Given the description of an element on the screen output the (x, y) to click on. 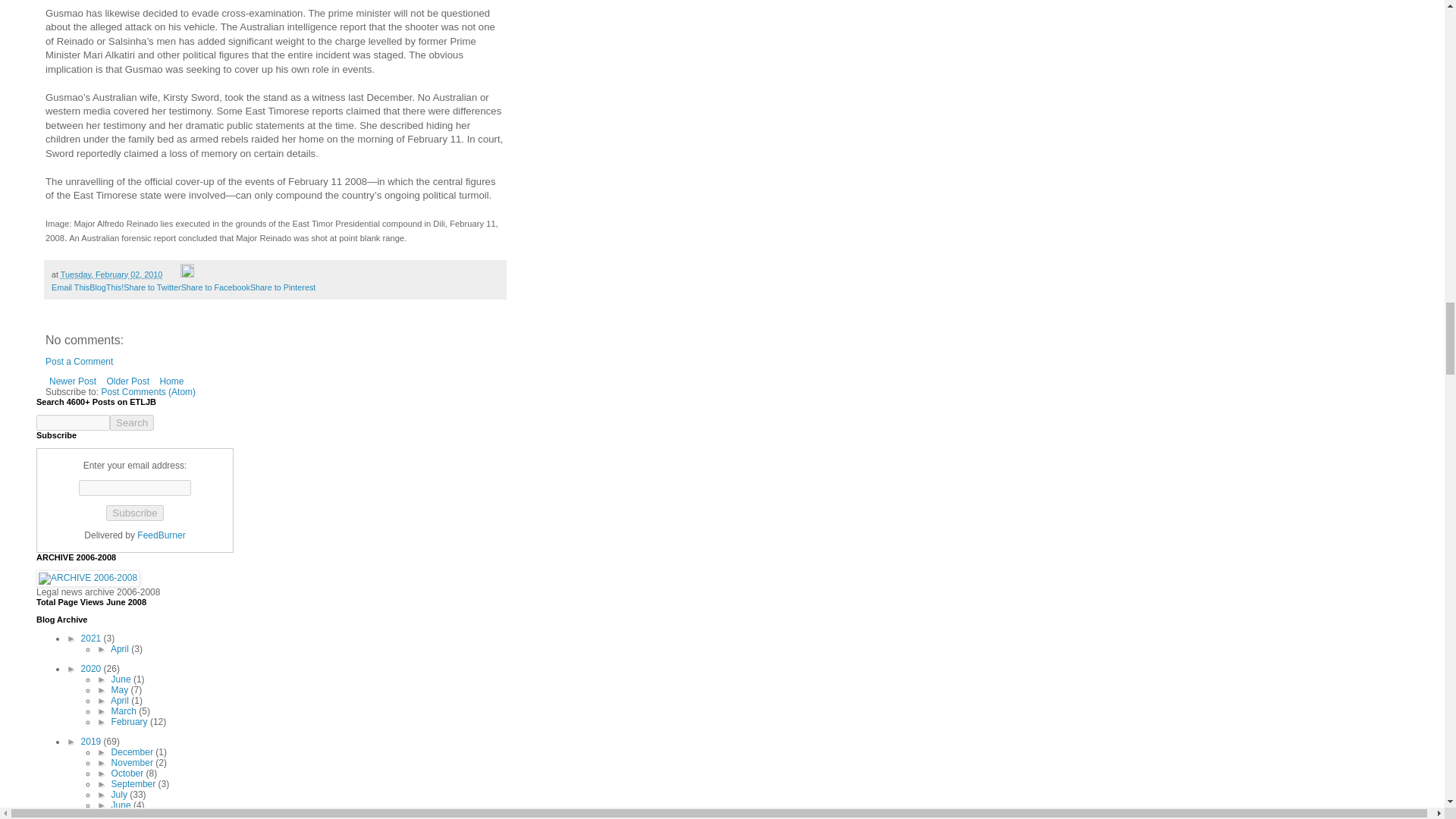
Email Post (172, 274)
Newer Post (72, 381)
search (132, 422)
FeedBurner (160, 534)
Share to Twitter (151, 286)
Tuesday, February 02, 2010 (111, 274)
Post a Comment (79, 361)
Search (132, 422)
Share to Twitter (151, 286)
Share to Pinterest (282, 286)
